Given the description of an element on the screen output the (x, y) to click on. 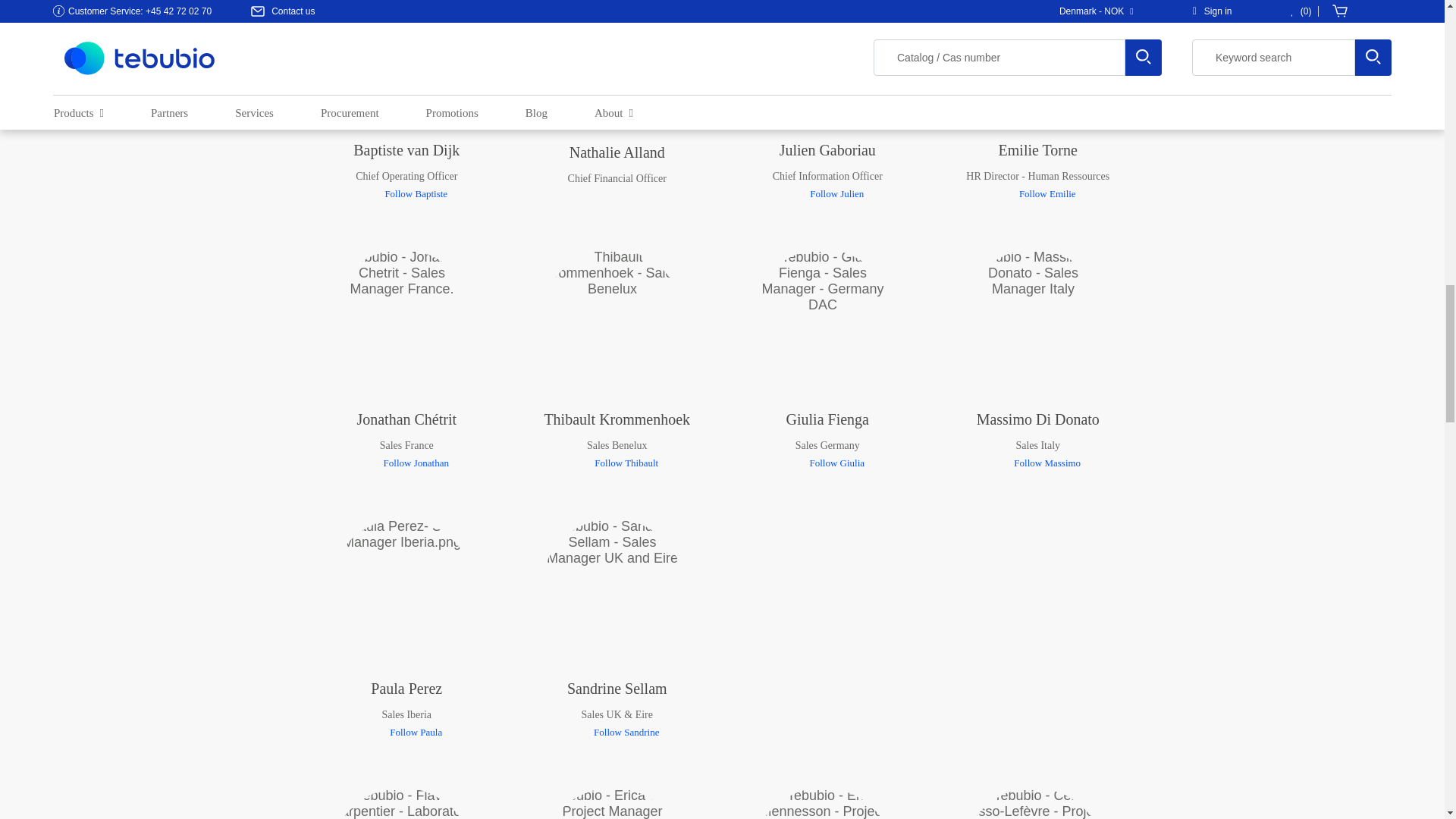
Baptiste van Dijk (402, 62)
Follow Julien (827, 193)
Tebubio - Nathalie Alland - Finance Manager (612, 63)
Follow Baptiste (406, 193)
Julien Gaboriau - IT Manager.jpg (823, 62)
